Given the description of an element on the screen output the (x, y) to click on. 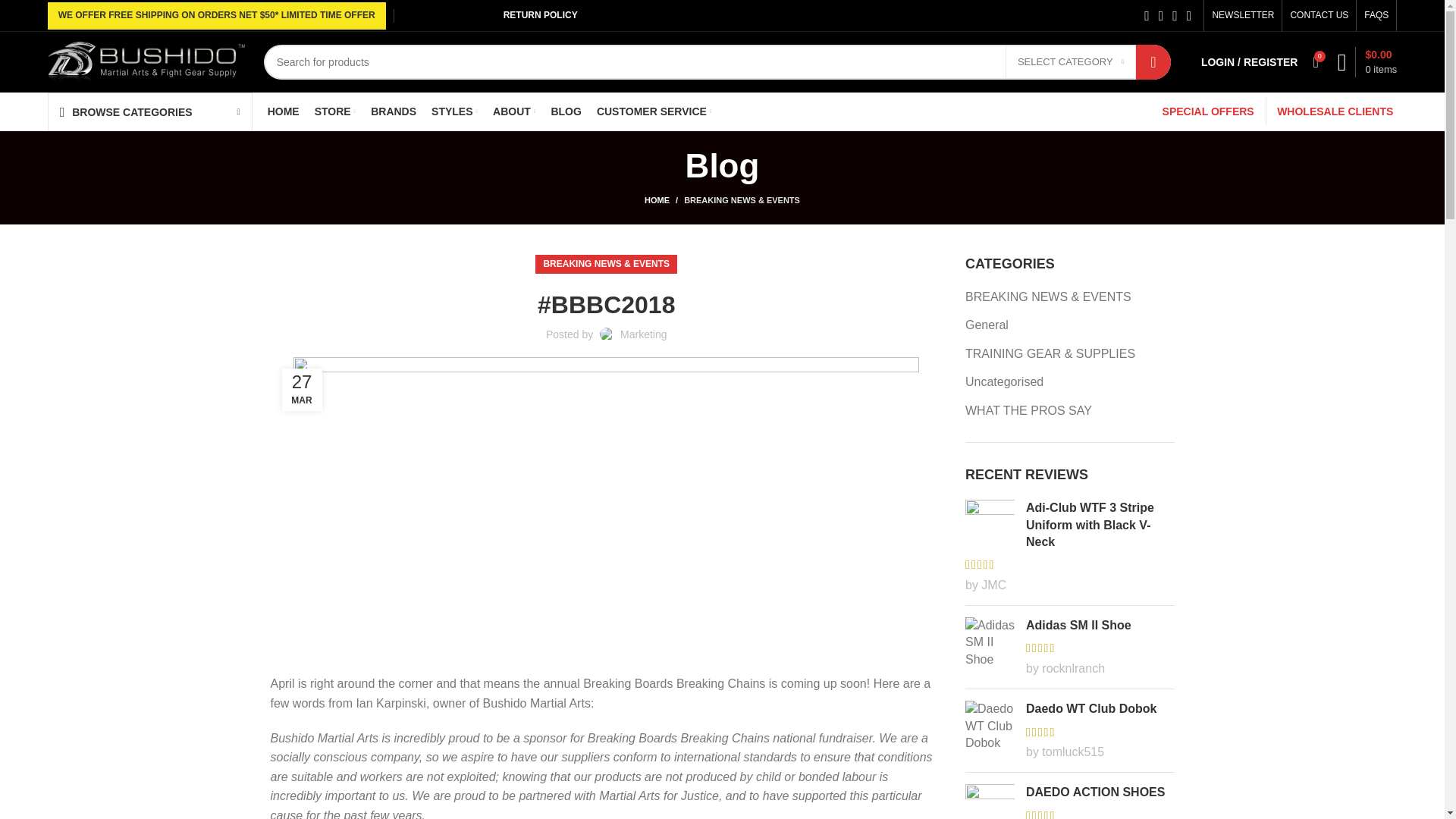
CONTACT US (1319, 15)
NEWSLETTER (1242, 15)
Shopping cart (1367, 61)
RETURN POLICY (540, 14)
SELECT CATEGORY (1070, 61)
My account (1249, 61)
Search for products (716, 62)
SELECT CATEGORY (1070, 61)
